Given the description of an element on the screen output the (x, y) to click on. 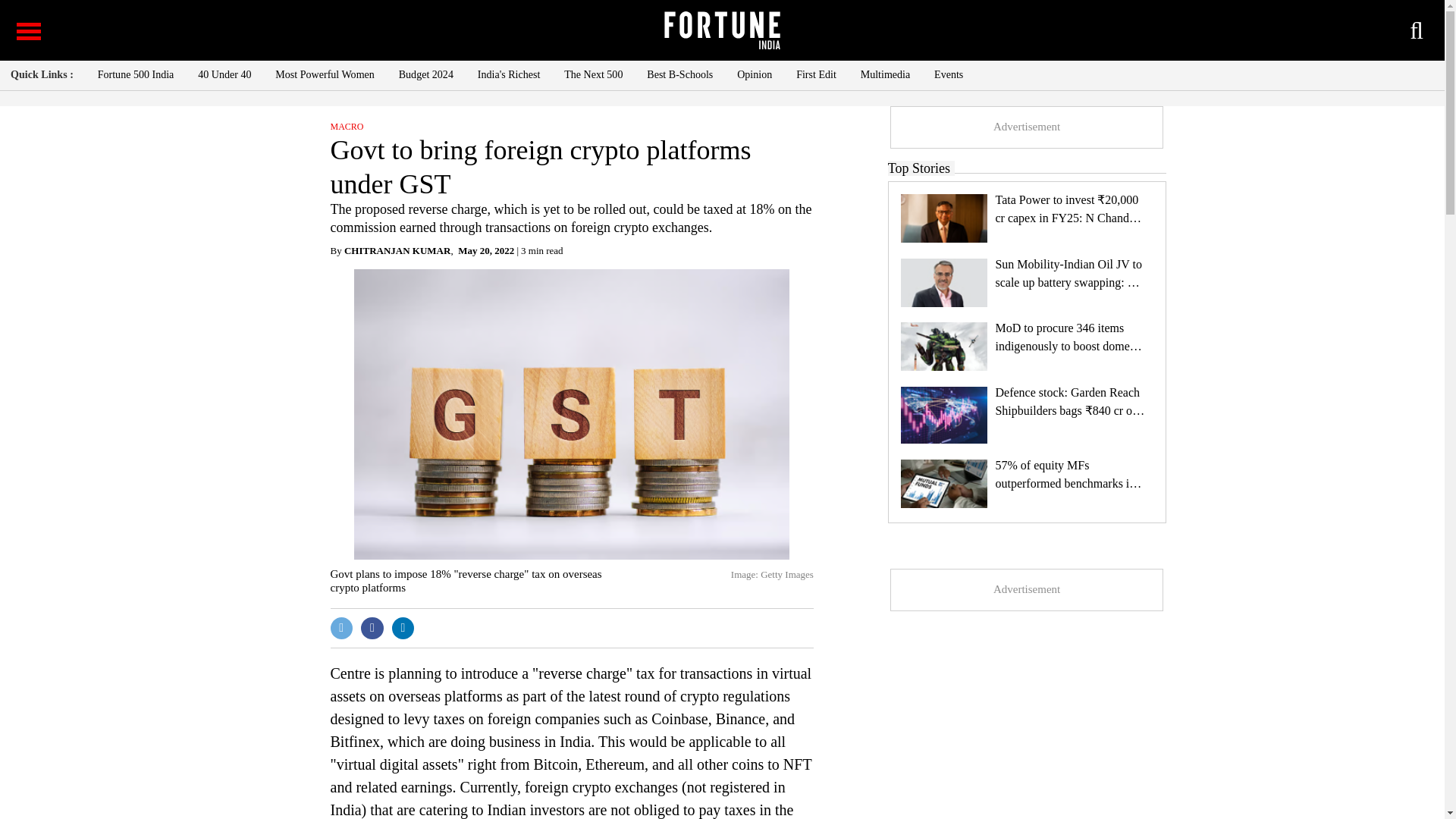
Opinion (753, 74)
FortuneIndia (721, 29)
Fortune 500 India (135, 74)
Linkedin (402, 628)
Multimedia (885, 74)
Facebook (372, 628)
Chitranjan Kumar (396, 250)
Budget 2024 (425, 74)
Events (948, 74)
Twitter (341, 628)
Most Powerful Women (324, 74)
Best B-Schools (679, 74)
India's Richest (508, 74)
40 Under 40 (224, 74)
Macro (347, 126)
